Given the description of an element on the screen output the (x, y) to click on. 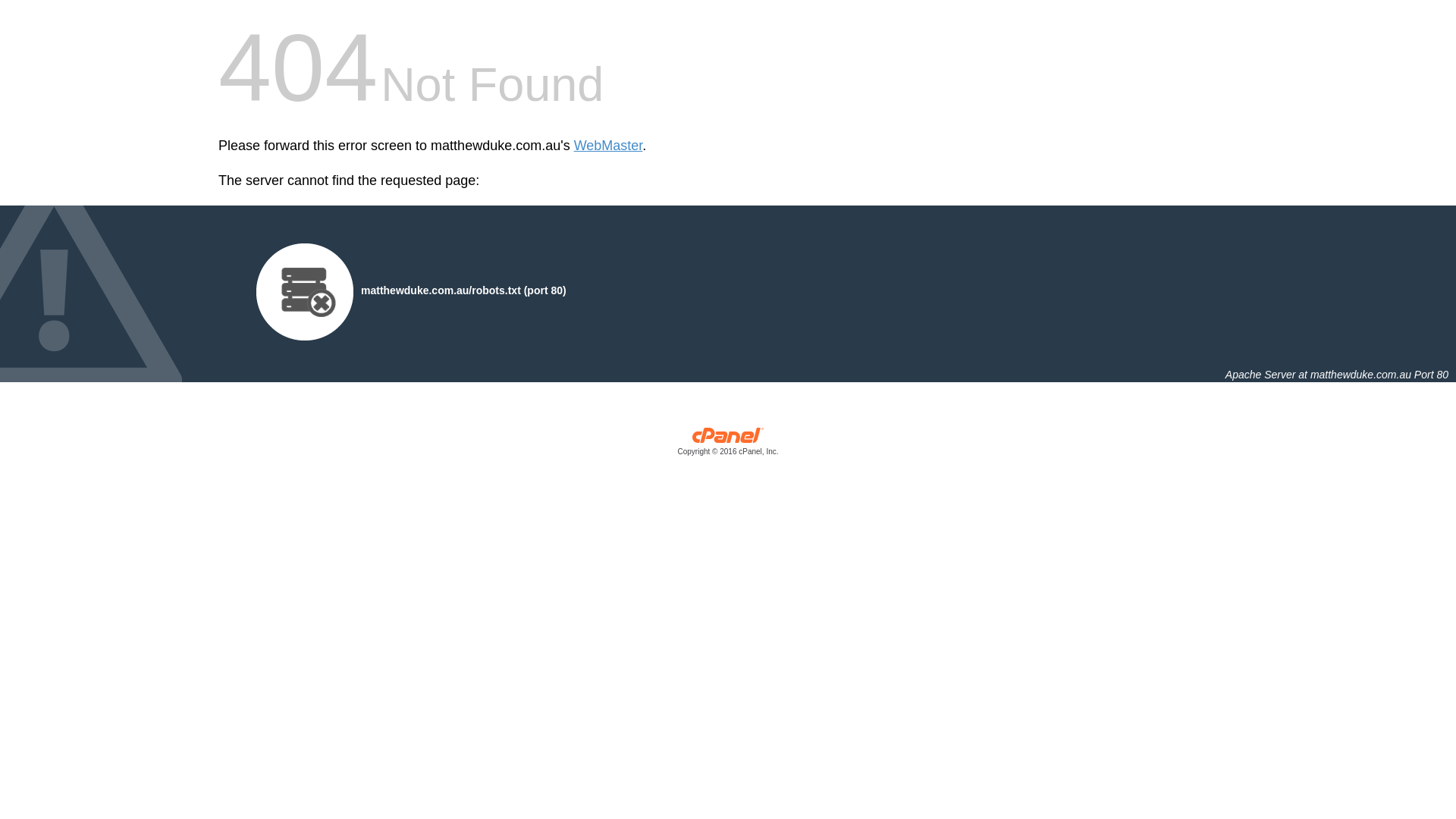
WebMaster Element type: text (608, 145)
